Given the description of an element on the screen output the (x, y) to click on. 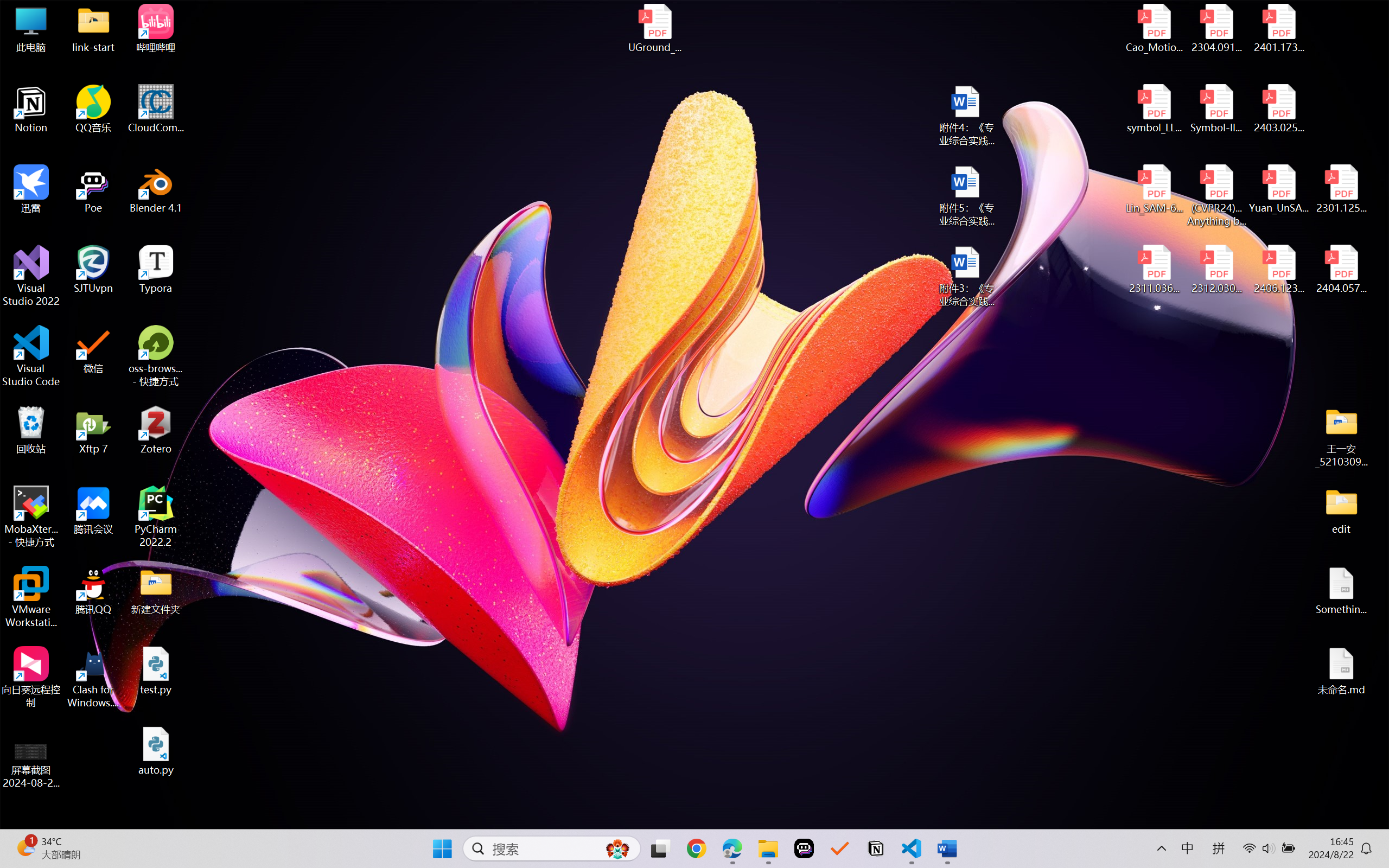
Visual Studio 2022 (31, 276)
CloudCompare (156, 109)
Xftp 7 (93, 430)
Something.md (1340, 591)
